Given the description of an element on the screen output the (x, y) to click on. 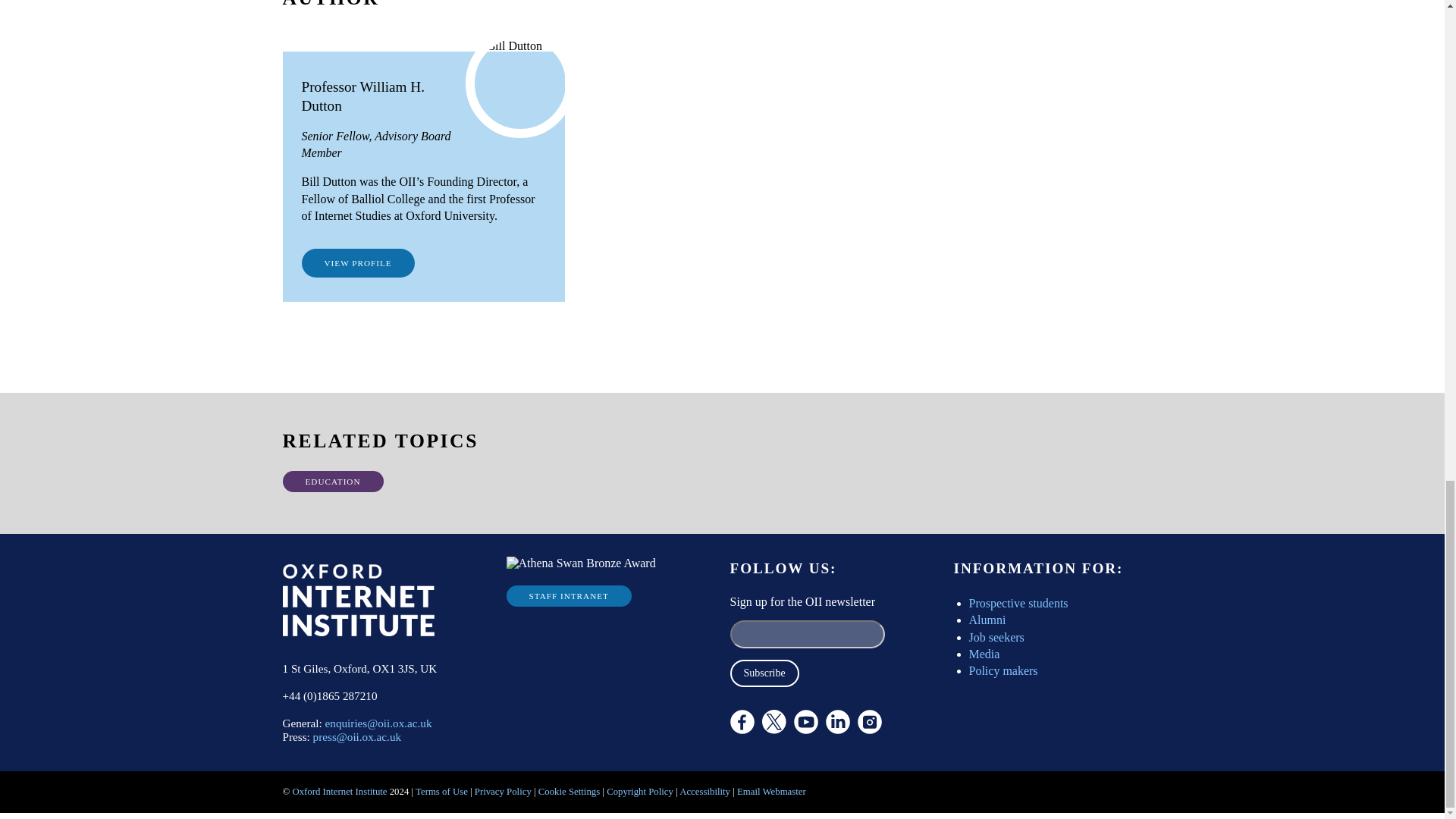
Instagram link (868, 721)
Subscribe (763, 673)
YouTube link (804, 721)
Facebook link (741, 721)
Twitter link (814, 762)
LinkedIn link (836, 721)
